Given the description of an element on the screen output the (x, y) to click on. 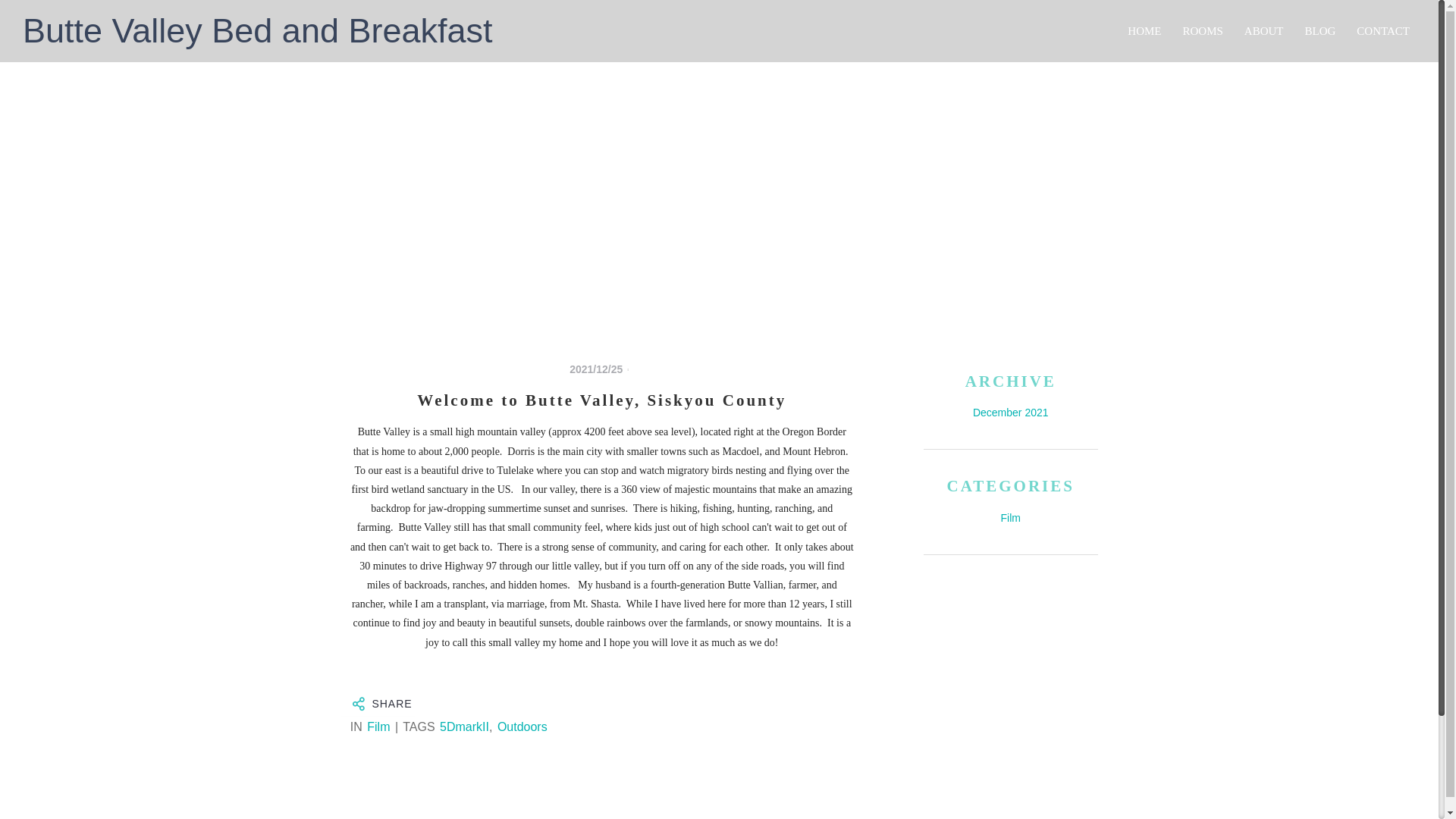
HOME (1144, 30)
Outdoors (522, 726)
Welcome to Butte Valley, Siskyou County (601, 400)
BLOG (1320, 30)
CONTACT (1383, 30)
ABOUT (1264, 30)
5DmarkII (464, 726)
Butte Valley Bed and Breakfast (246, 30)
Film (378, 726)
ROOMS (1202, 30)
Film (1010, 517)
December 2021 (1010, 412)
